Given the description of an element on the screen output the (x, y) to click on. 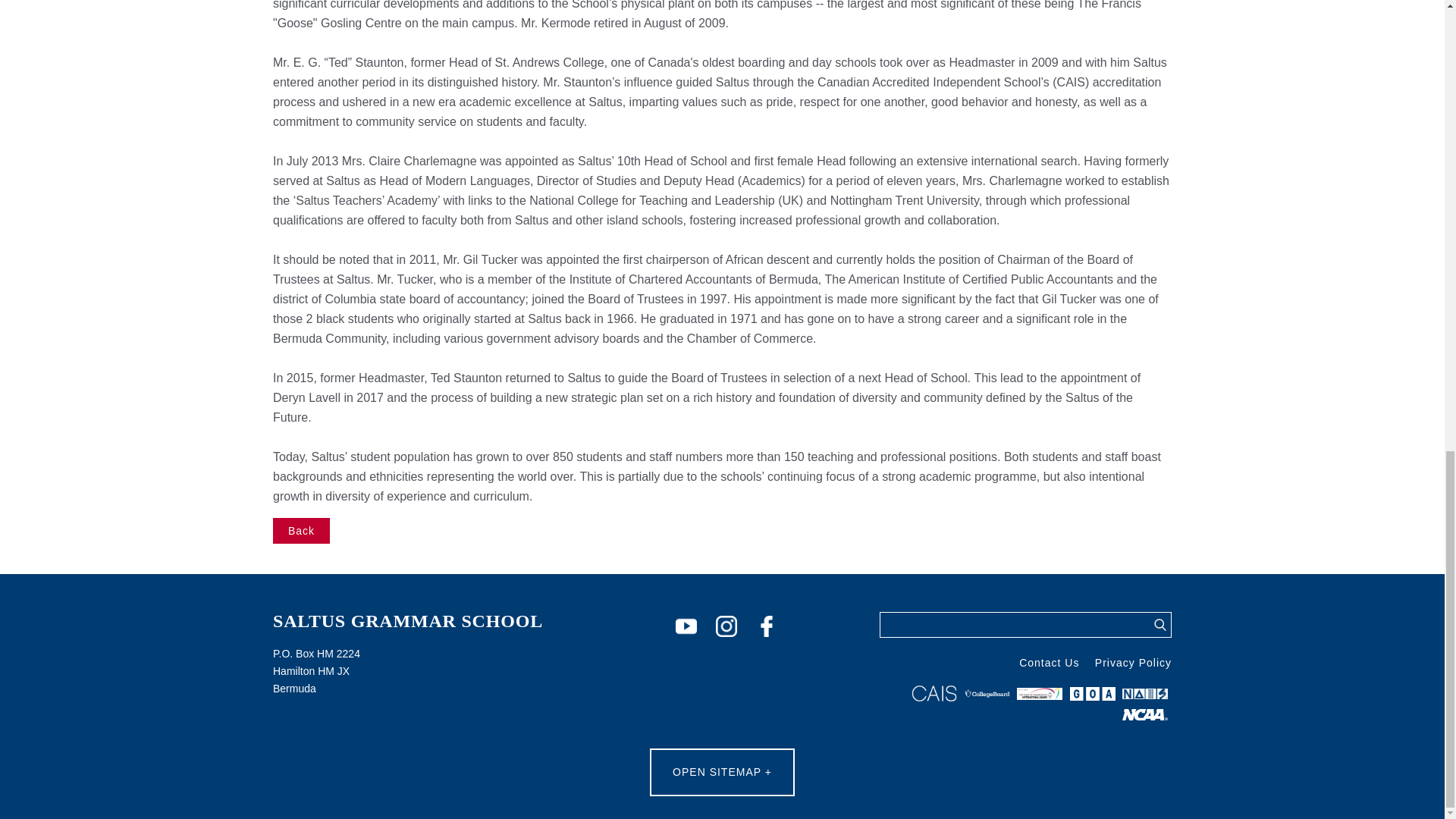
open or close this sitemap (721, 772)
